Given the description of an element on the screen output the (x, y) to click on. 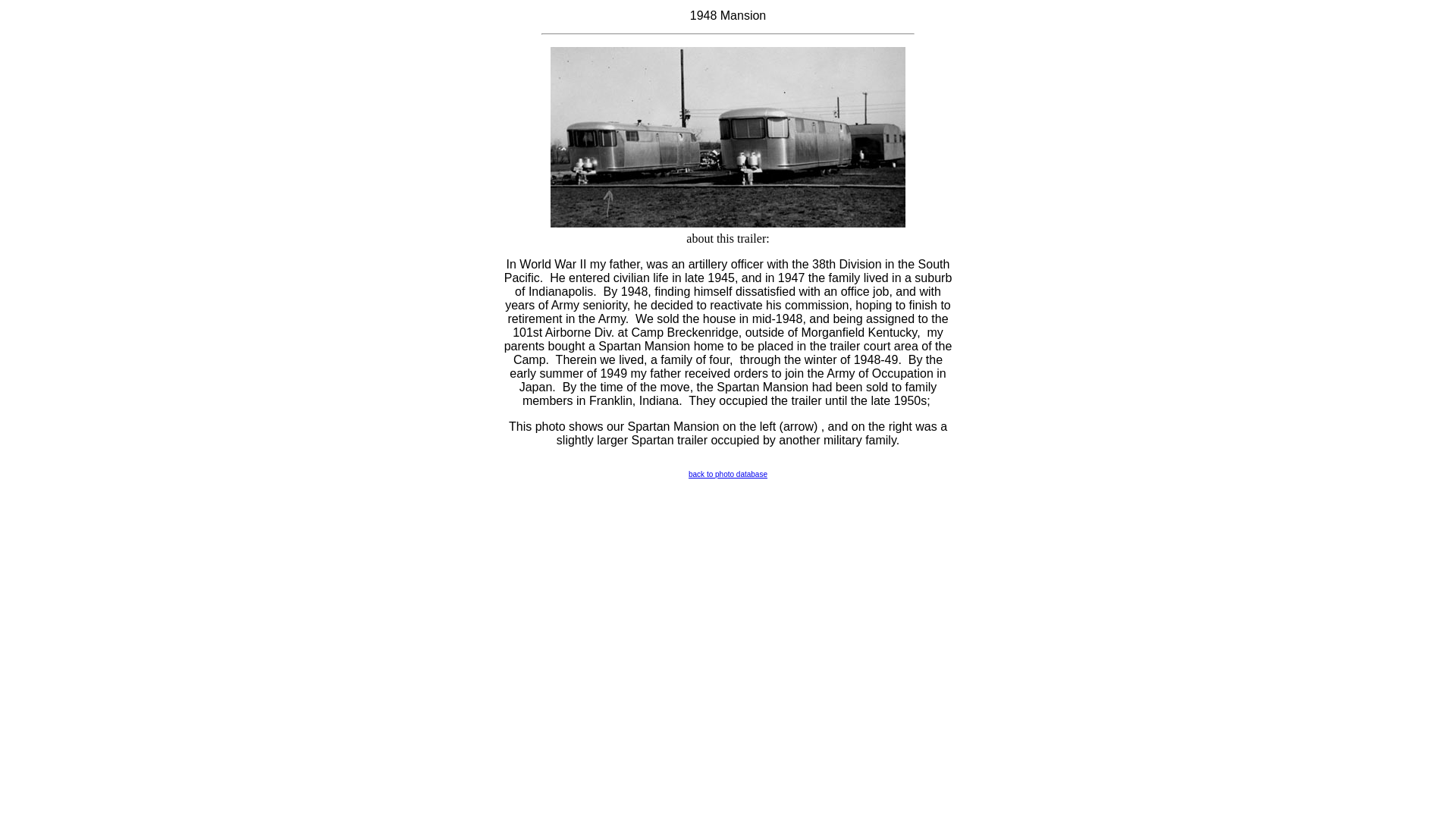
back to photo database (727, 474)
